Given the description of an element on the screen output the (x, y) to click on. 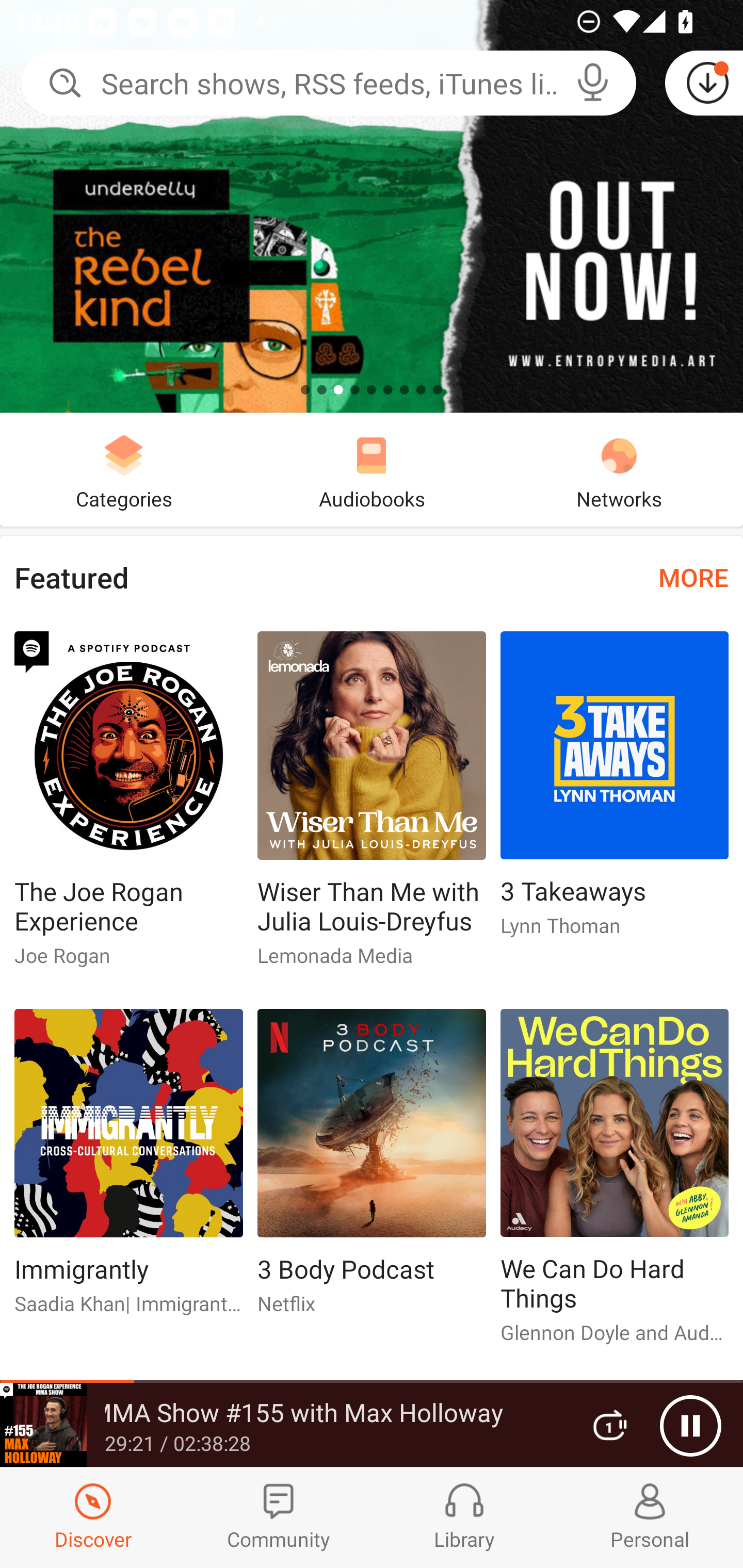
Underbelly (371, 206)
Categories (123, 469)
Audiobooks (371, 469)
Networks (619, 469)
MORE (693, 576)
3 Takeaways 3 Takeaways Lynn Thoman (614, 792)
3 Body Podcast 3 Body Podcast Netflix (371, 1169)
Pause (690, 1425)
Discover (92, 1517)
Community (278, 1517)
Library (464, 1517)
Profiles and Settings Personal (650, 1517)
